Given the description of an element on the screen output the (x, y) to click on. 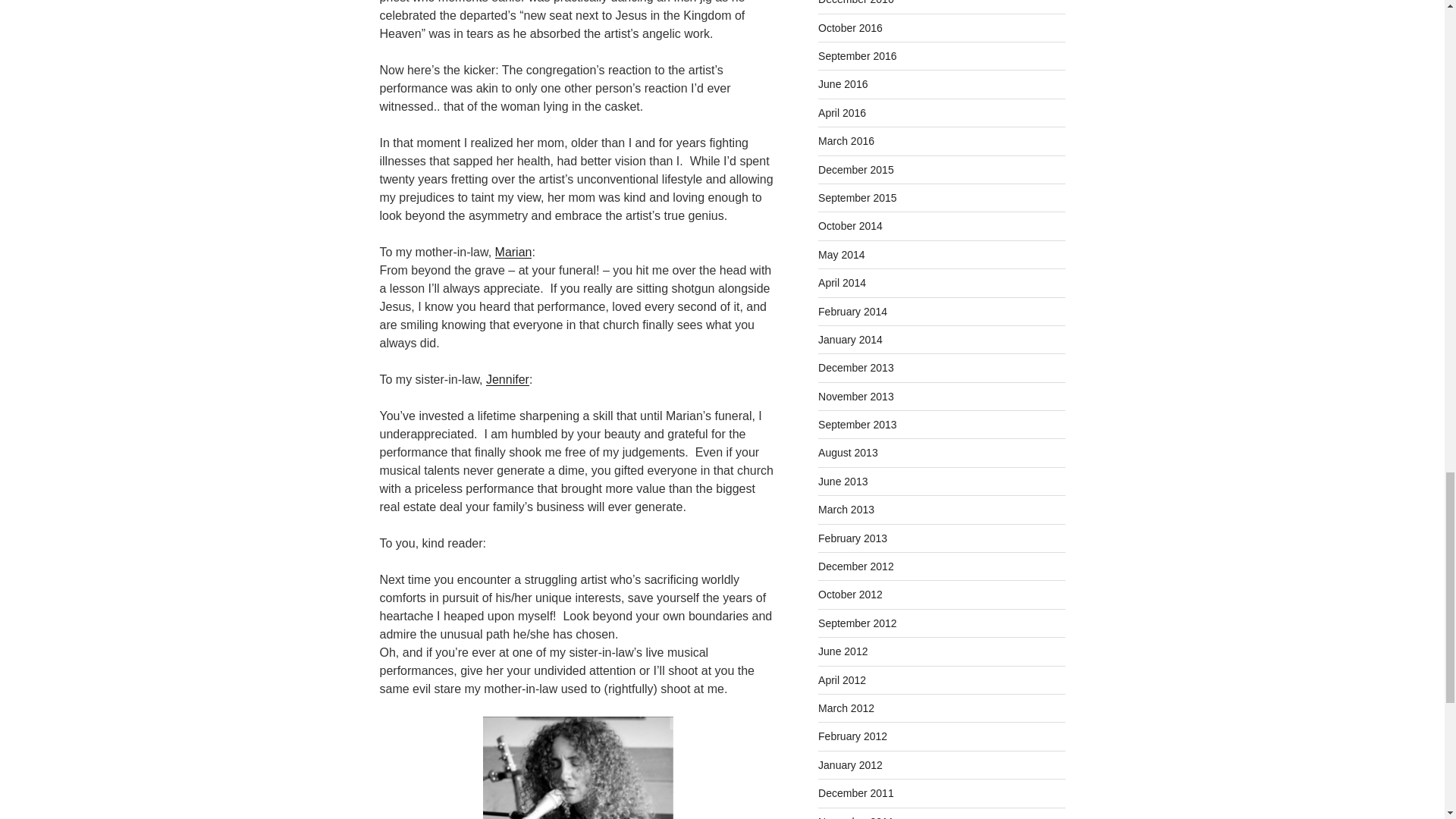
Jennifer (507, 379)
October 2016 (850, 28)
Marian (513, 251)
December 2016 (855, 2)
